Given the description of an element on the screen output the (x, y) to click on. 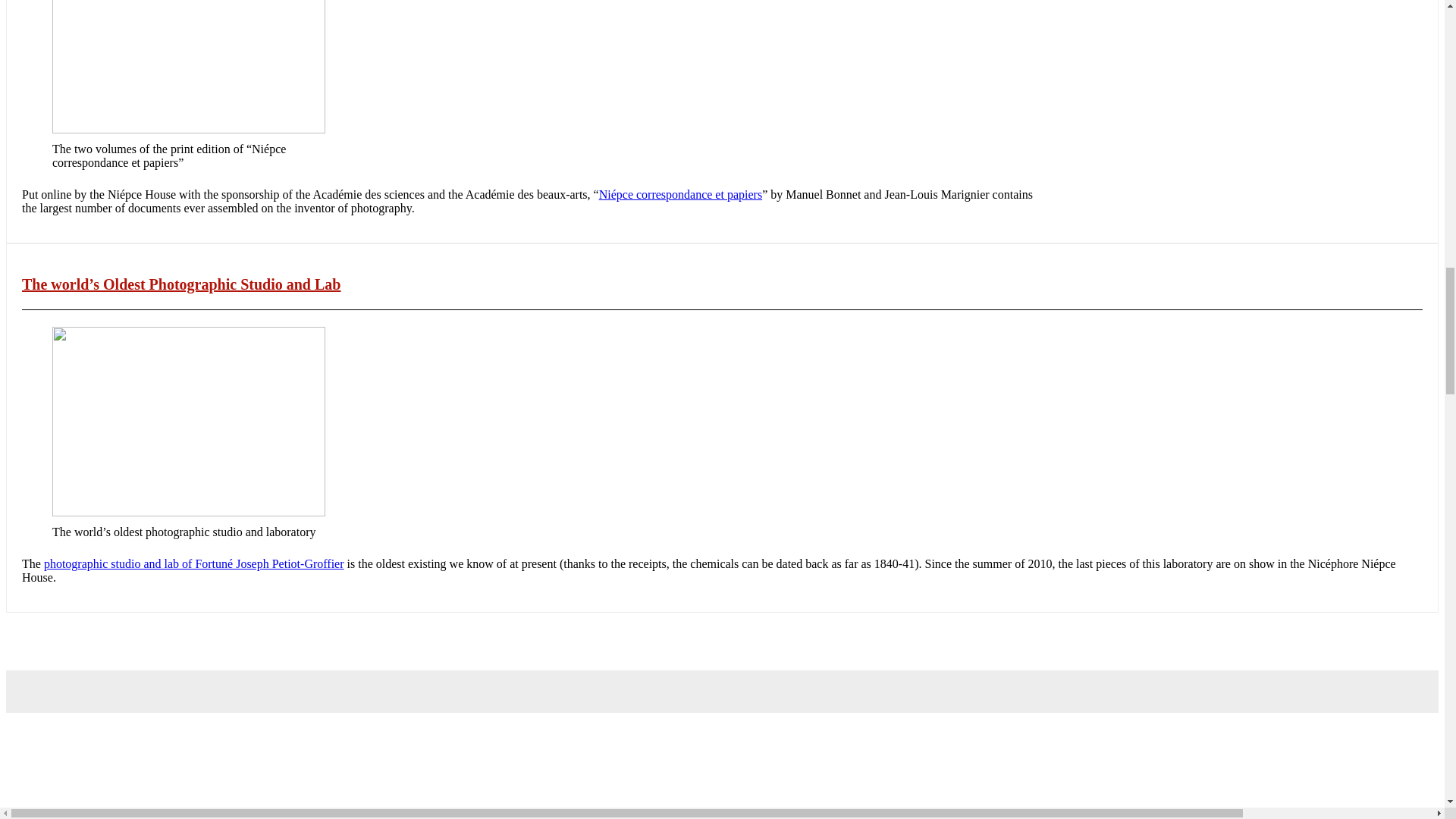
Le plus ancien atelier et laboratoire au monde (193, 563)
